Given the description of an element on the screen output the (x, y) to click on. 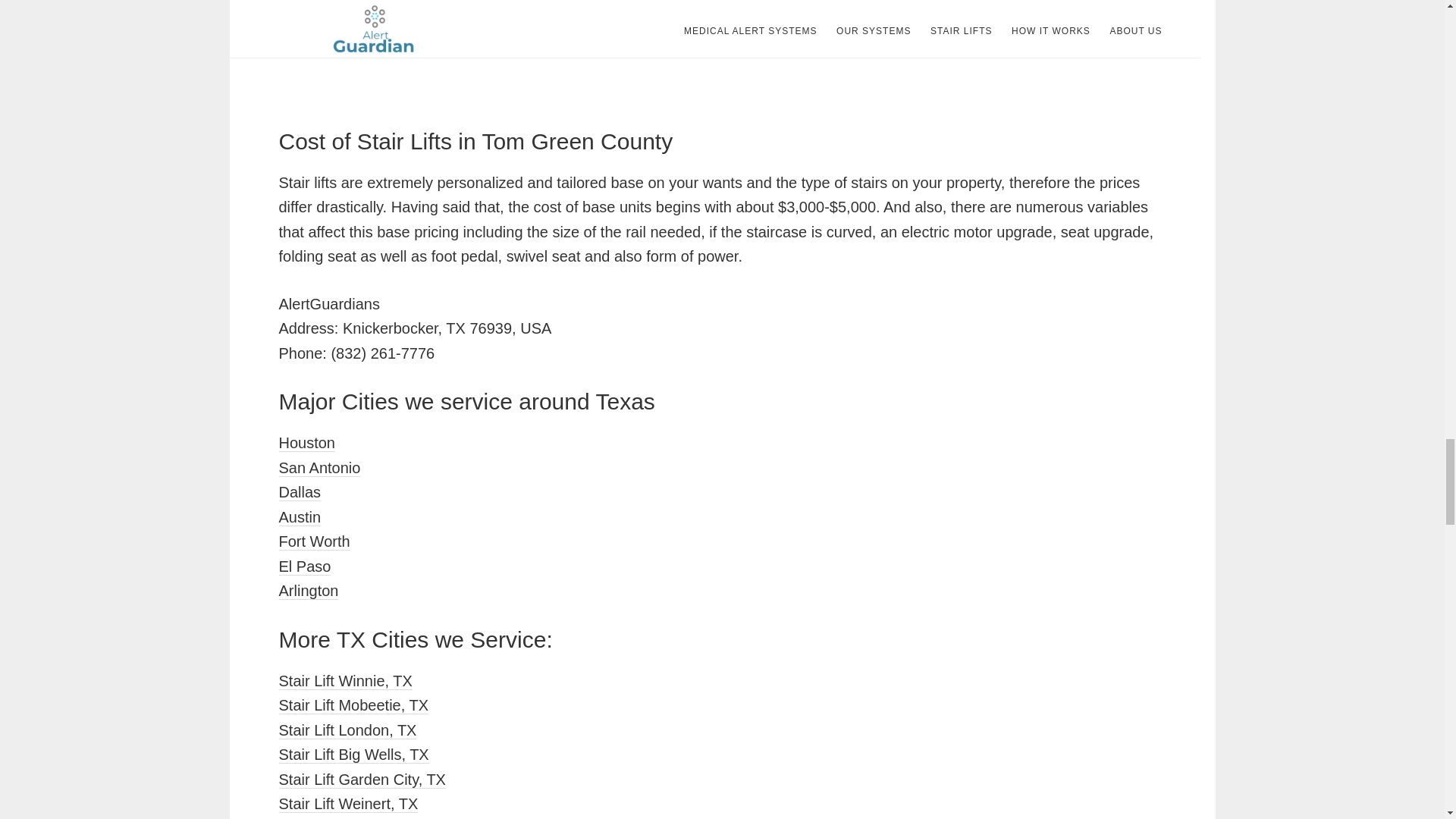
Houston (307, 443)
Fort Worth (314, 541)
Stair Lift Garden City, TX (362, 779)
Stair Lift Weinert, TX (349, 804)
Stair Lift London, TX (347, 730)
Arlington (309, 590)
Stair Lift Big Wells, TX (354, 754)
Stair Lift Winnie, TX (345, 681)
Stair Lift Mobeetie, TX (354, 705)
Stair Lift London, TX (347, 730)
El Paso (305, 566)
Dallas (300, 492)
Austin (300, 517)
San Antonio (320, 467)
Stair Lift Mobeetie, TX (354, 705)
